Given the description of an element on the screen output the (x, y) to click on. 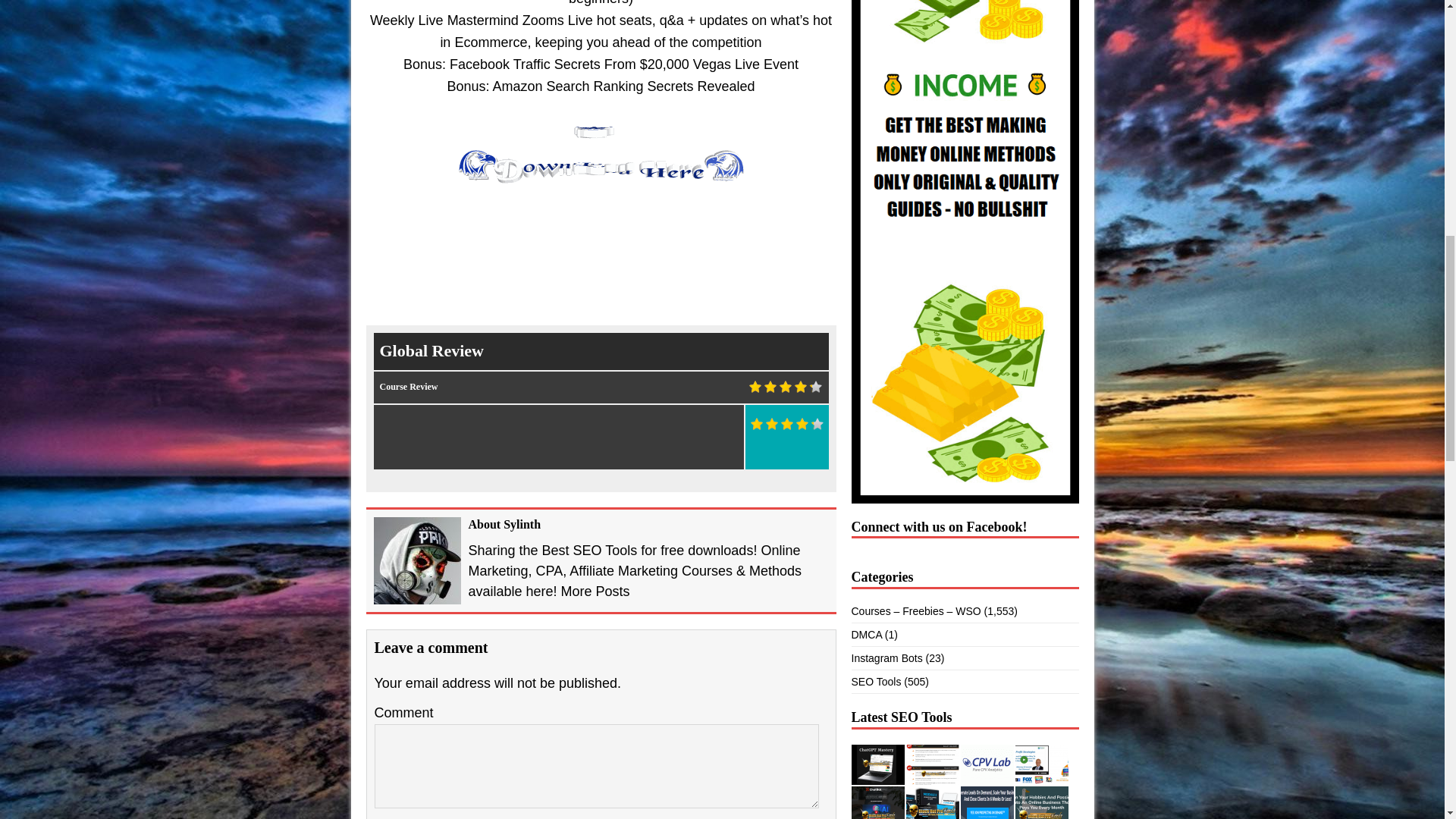
More articles written by Sylinth (595, 590)
DMCA (865, 634)
Instagram Bots (885, 657)
SEO Tools (875, 681)
More Posts (595, 590)
